Given the description of an element on the screen output the (x, y) to click on. 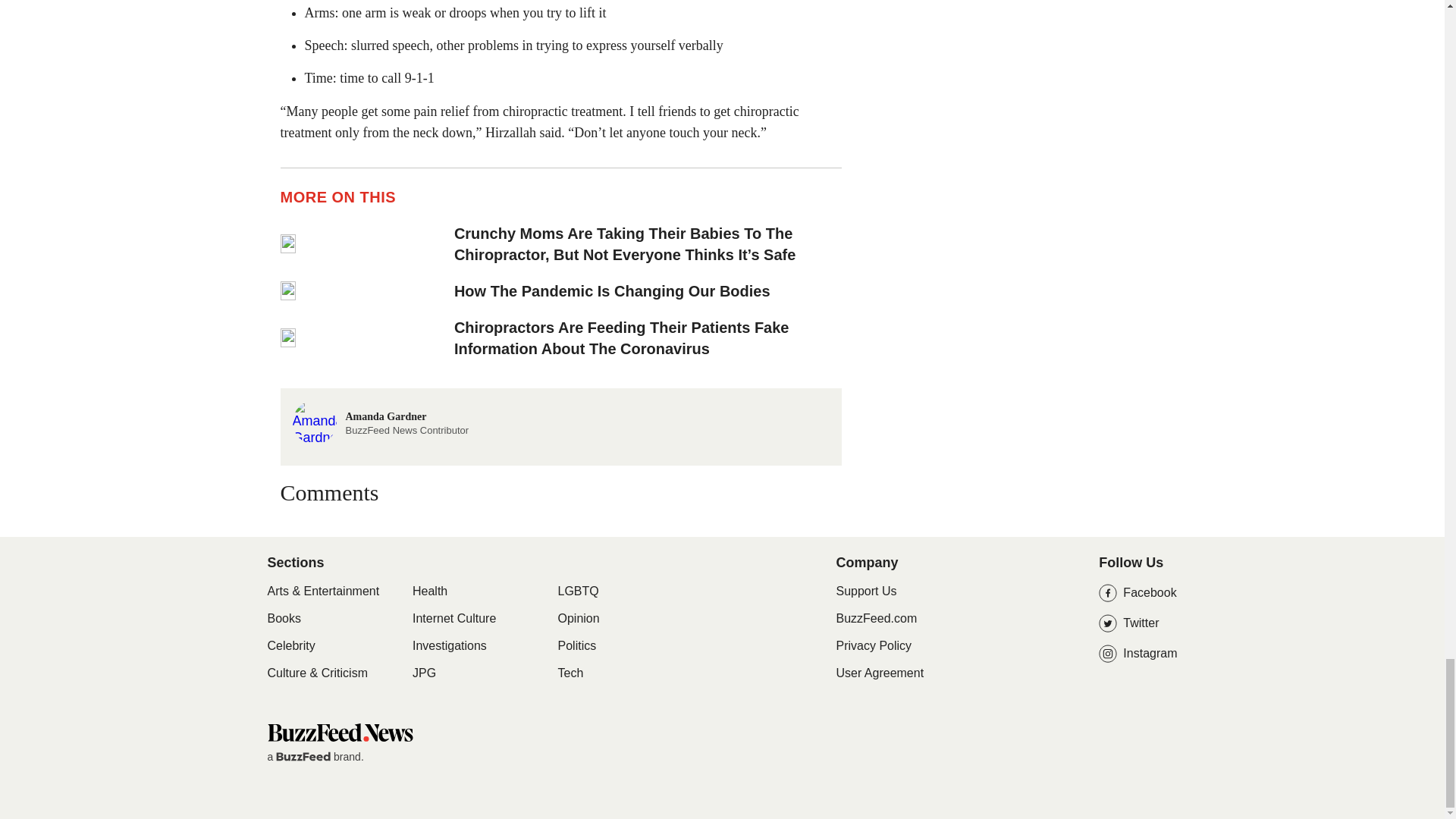
Health (429, 590)
BuzzFeed (303, 756)
BuzzFeed News Home (339, 732)
How The Pandemic Is Changing Our Bodies (380, 420)
Celebrity (647, 291)
Books (290, 645)
